Given the description of an element on the screen output the (x, y) to click on. 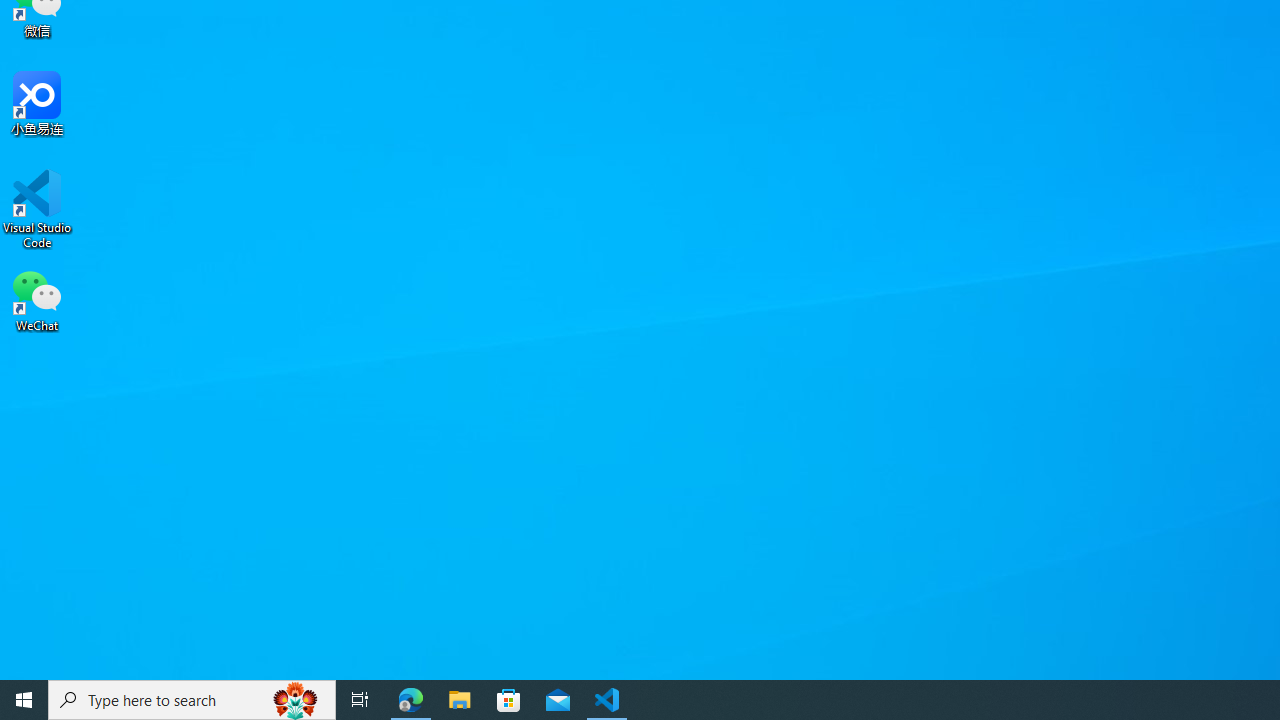
WeChat (37, 299)
Microsoft Store (509, 699)
Visual Studio Code (37, 209)
Task View (359, 699)
Start (24, 699)
Search highlights icon opens search home window (295, 699)
Type here to search (191, 699)
Microsoft Edge - 1 running window (411, 699)
Visual Studio Code - 1 running window (607, 699)
File Explorer (460, 699)
